Given the description of an element on the screen output the (x, y) to click on. 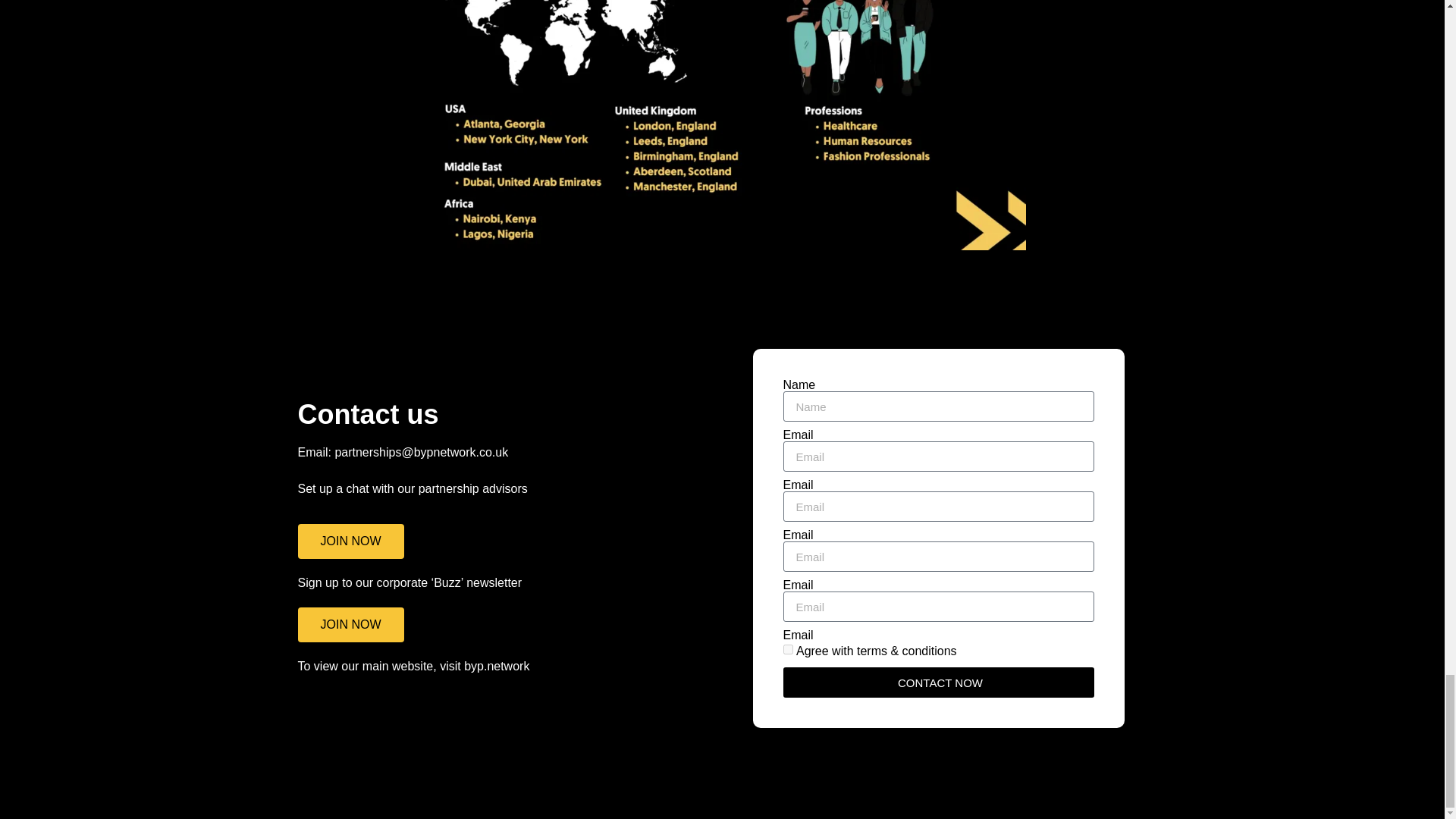
CONTACT NOW (938, 682)
JOIN NOW (350, 624)
on (787, 649)
JOIN NOW (350, 541)
